Given the description of an element on the screen output the (x, y) to click on. 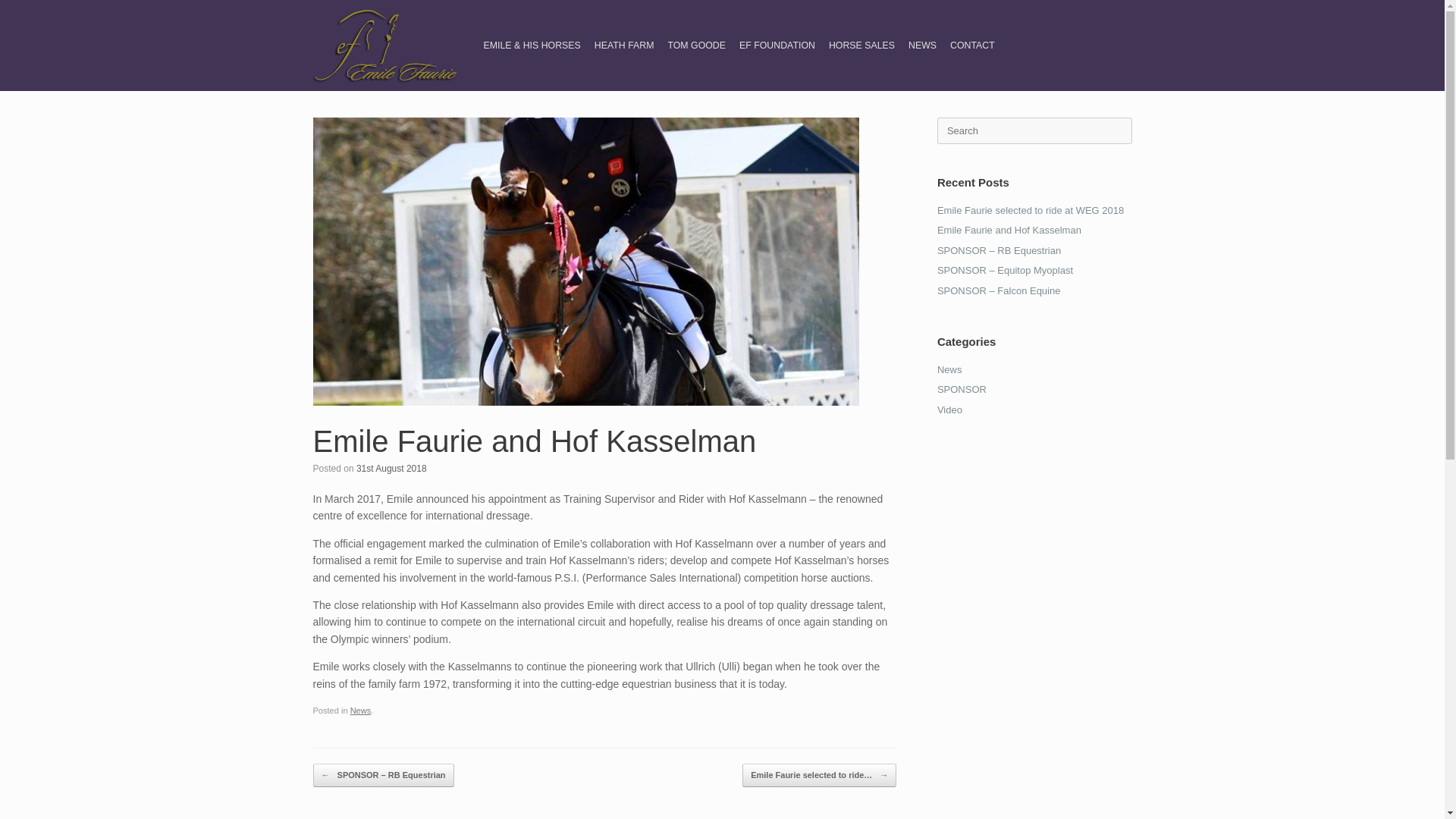
News (360, 709)
Emile Faurie selected to ride at WEG 2018 (1030, 210)
Emile Faurie and Hof Kasselman (1009, 229)
Video (949, 408)
SPONSOR (962, 389)
1:48 pm (391, 468)
31st August 2018 (391, 468)
EF FOUNDATION (777, 45)
News (949, 369)
